Given the description of an element on the screen output the (x, y) to click on. 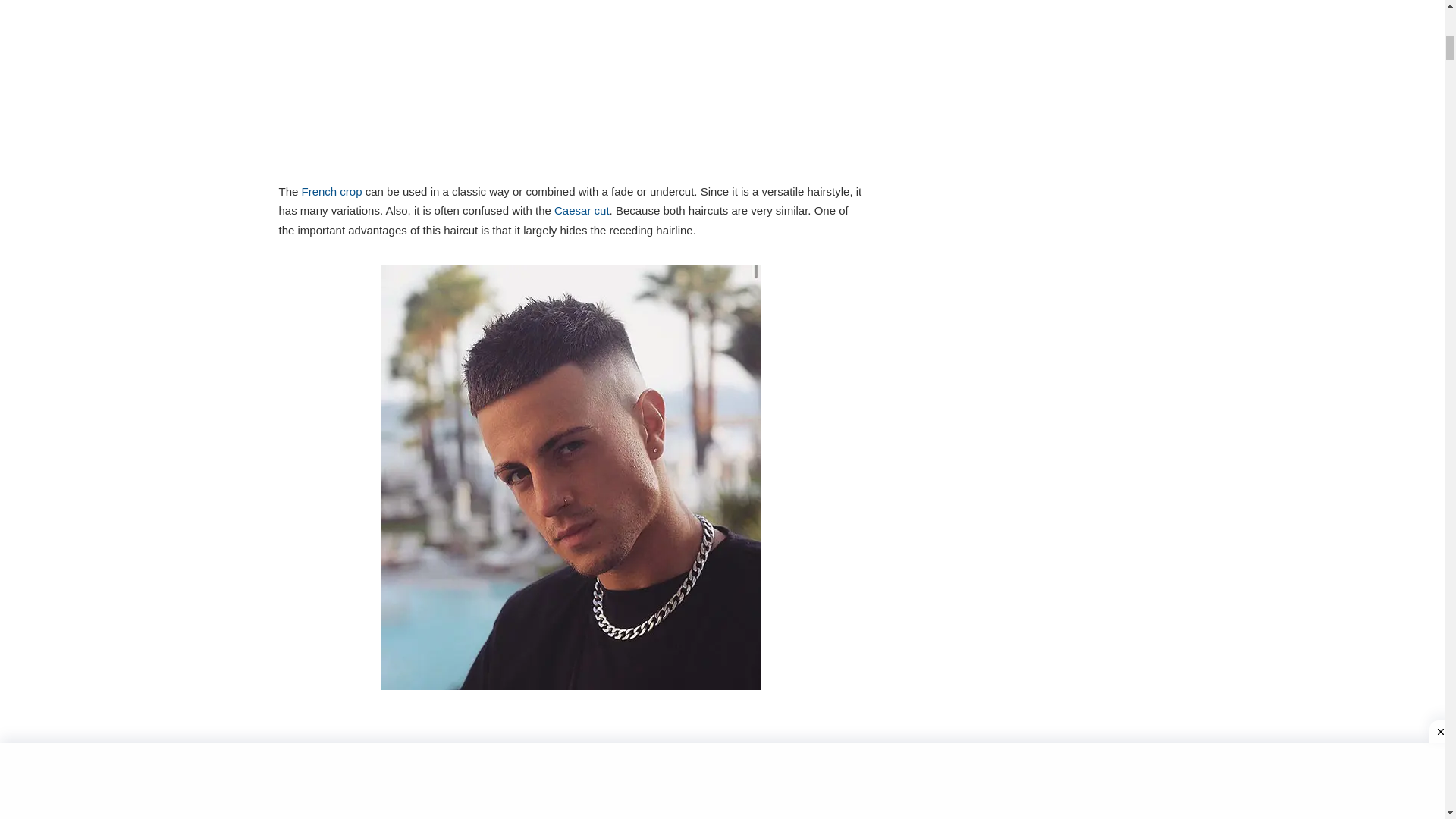
Advertisement (571, 88)
French crop (331, 191)
Caesar cut (582, 210)
